Given the description of an element on the screen output the (x, y) to click on. 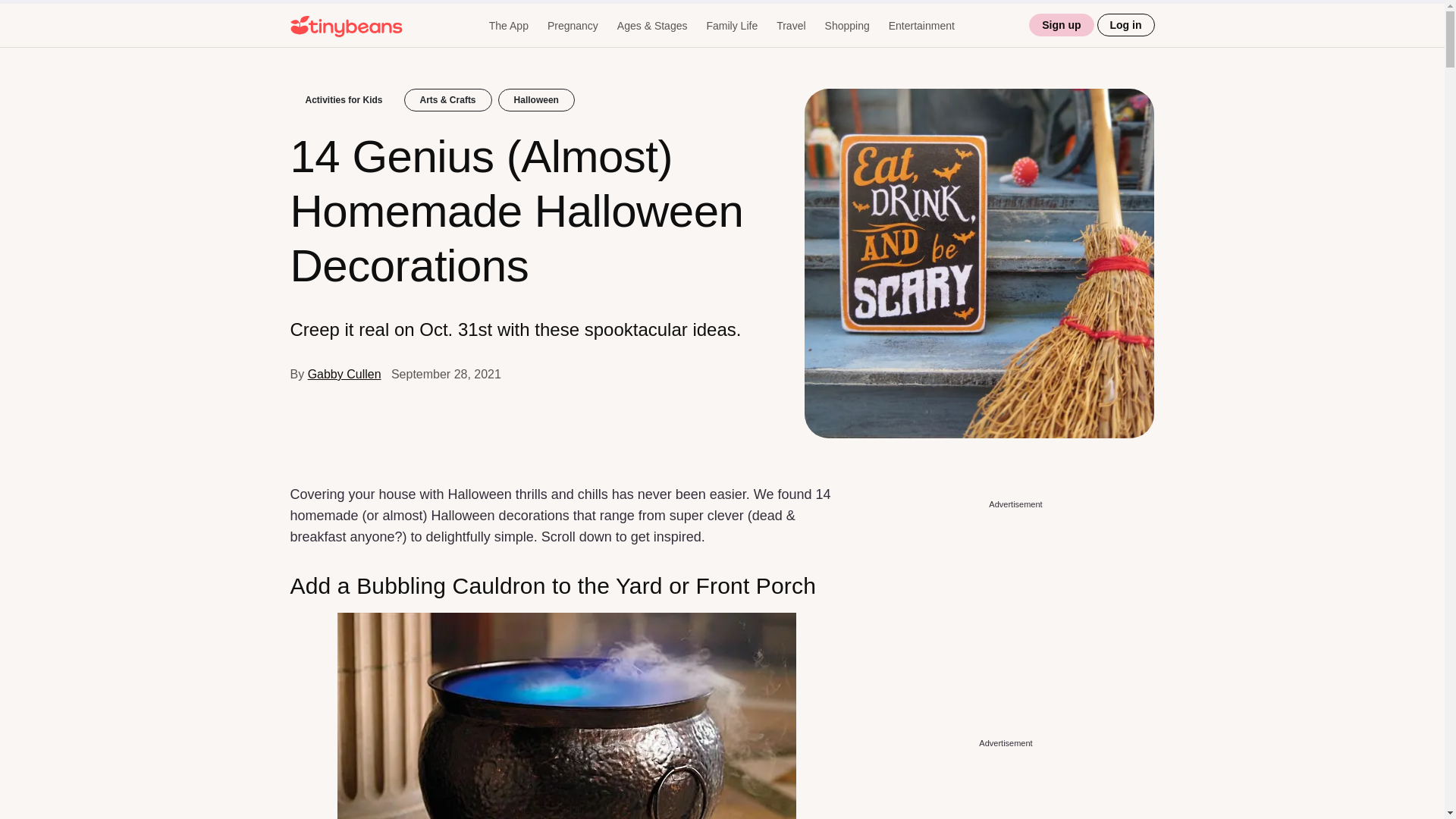
Family Life (731, 25)
Pregnancy (572, 25)
The App (508, 25)
Posts by Gabby Cullen (344, 373)
